Given the description of an element on the screen output the (x, y) to click on. 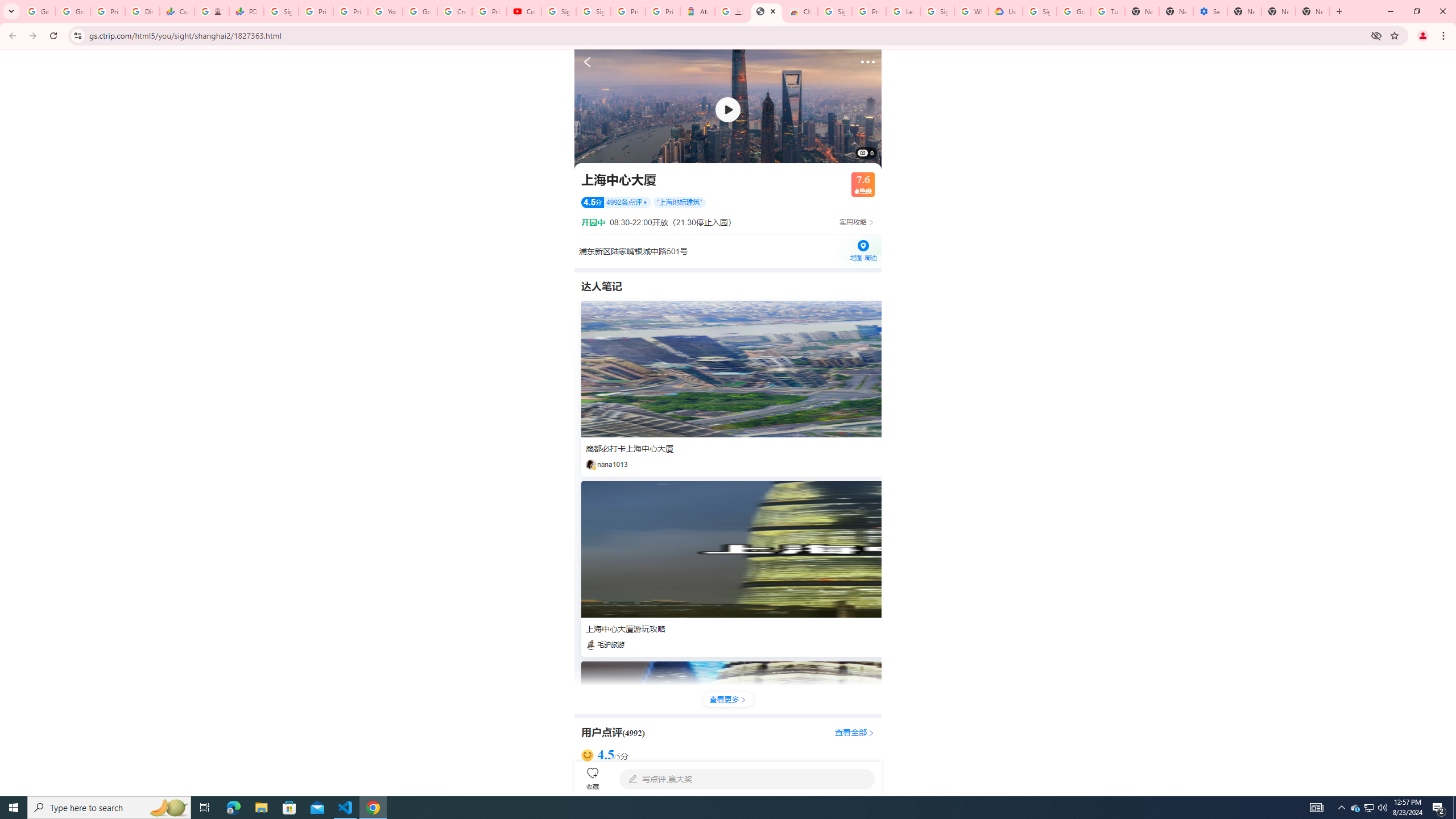
Google Workspace Admin Community (38, 11)
View site information (77, 35)
Minimize (1390, 11)
Currencies - Google Finance (176, 11)
Third-party cookies blocked (1376, 35)
Atour Hotel - Google hotels (697, 11)
Turn cookies on or off - Computer - Google Account Help (1107, 11)
Address and search bar (726, 35)
Restore (1416, 11)
Content Creator Programs & Opportunities - YouTube Creators (524, 11)
Google Account Help (419, 11)
Forward (32, 35)
